Given the description of an element on the screen output the (x, y) to click on. 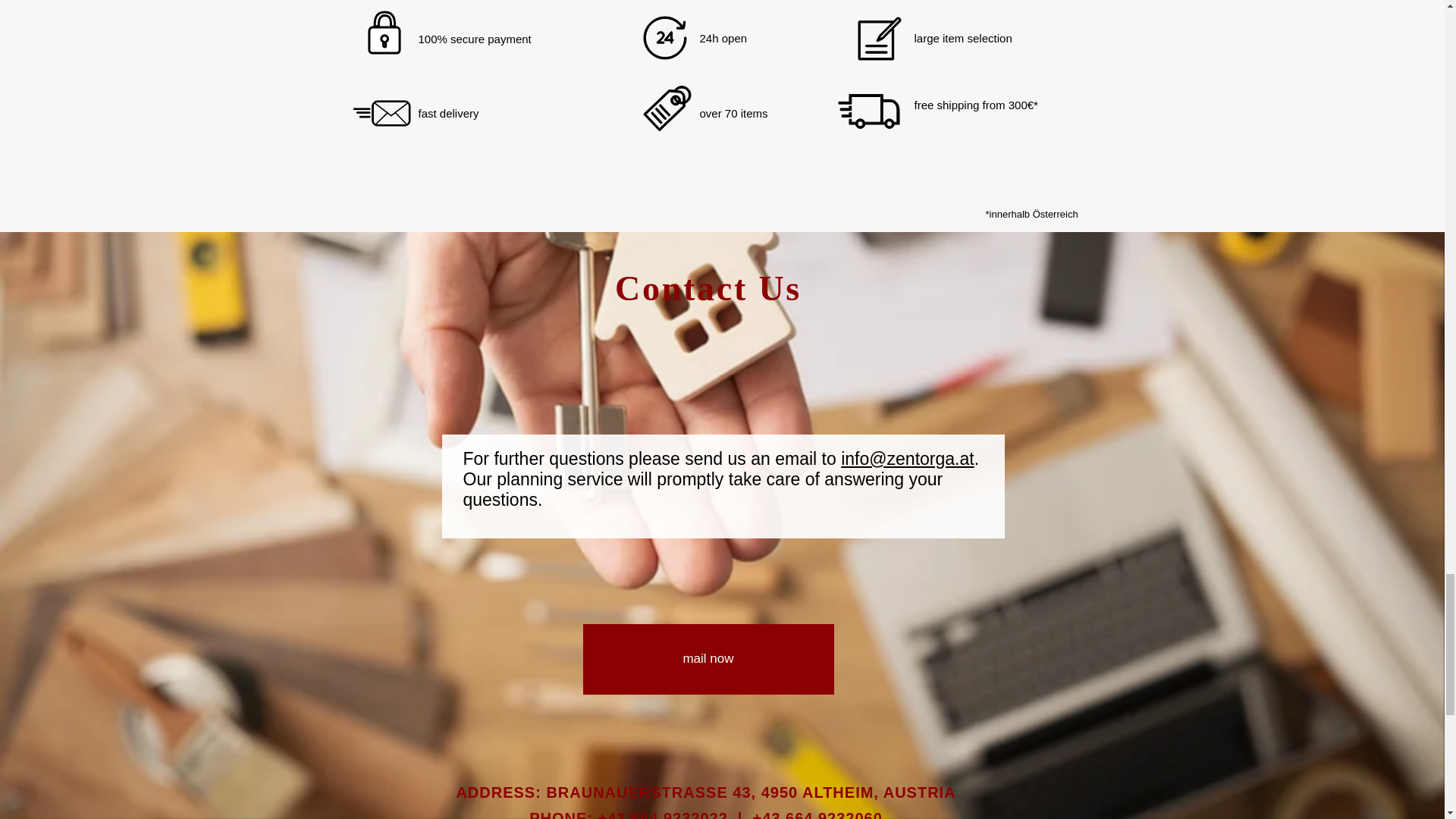
large item selection (962, 38)
mail now (707, 658)
over 70 items (732, 112)
24h open (722, 38)
fast delivery (449, 112)
For further questions please send us an email to  (652, 458)
